Given the description of an element on the screen output the (x, y) to click on. 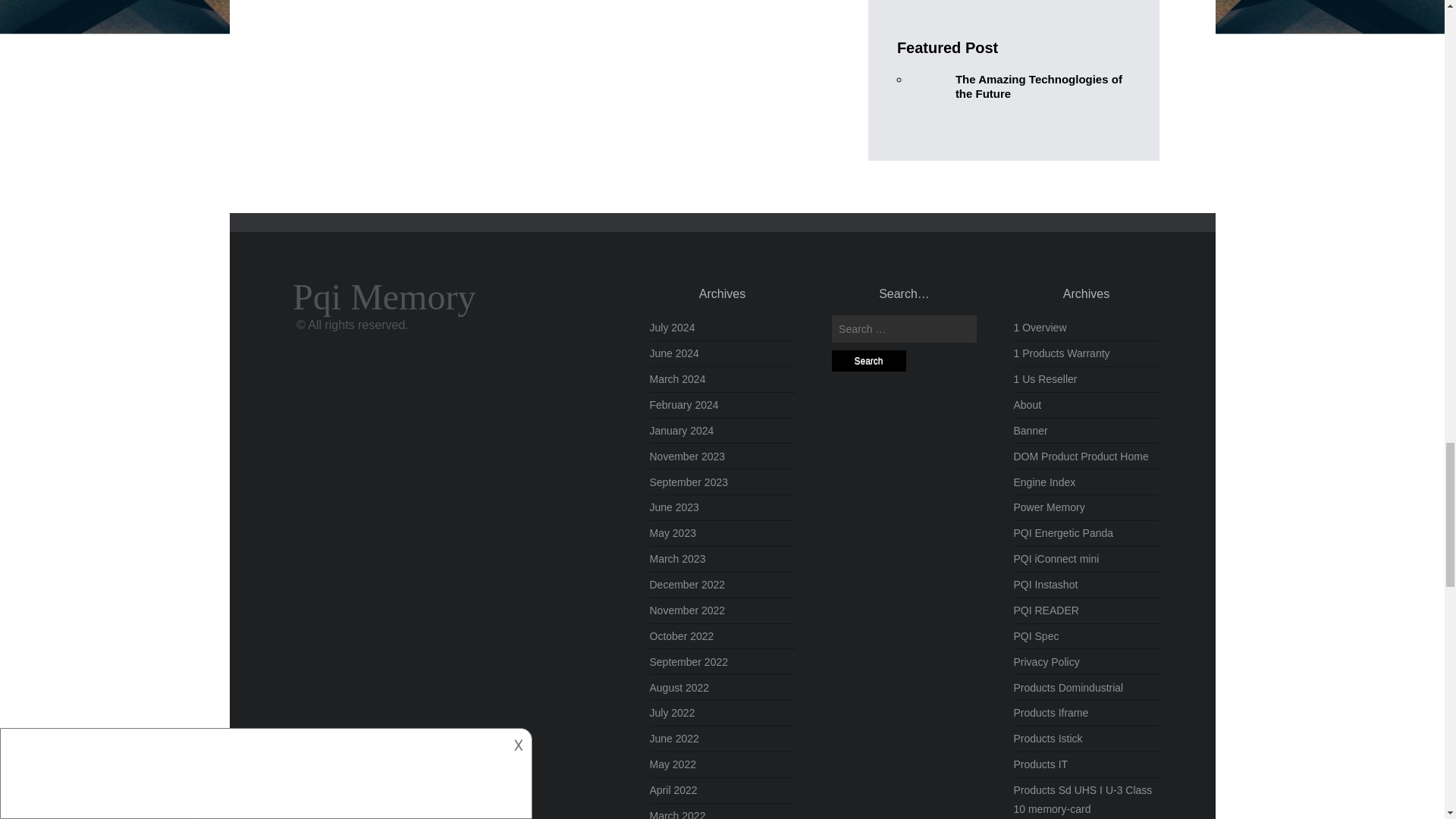
Search for: (903, 329)
Search (868, 361)
Search (868, 361)
